Given the description of an element on the screen output the (x, y) to click on. 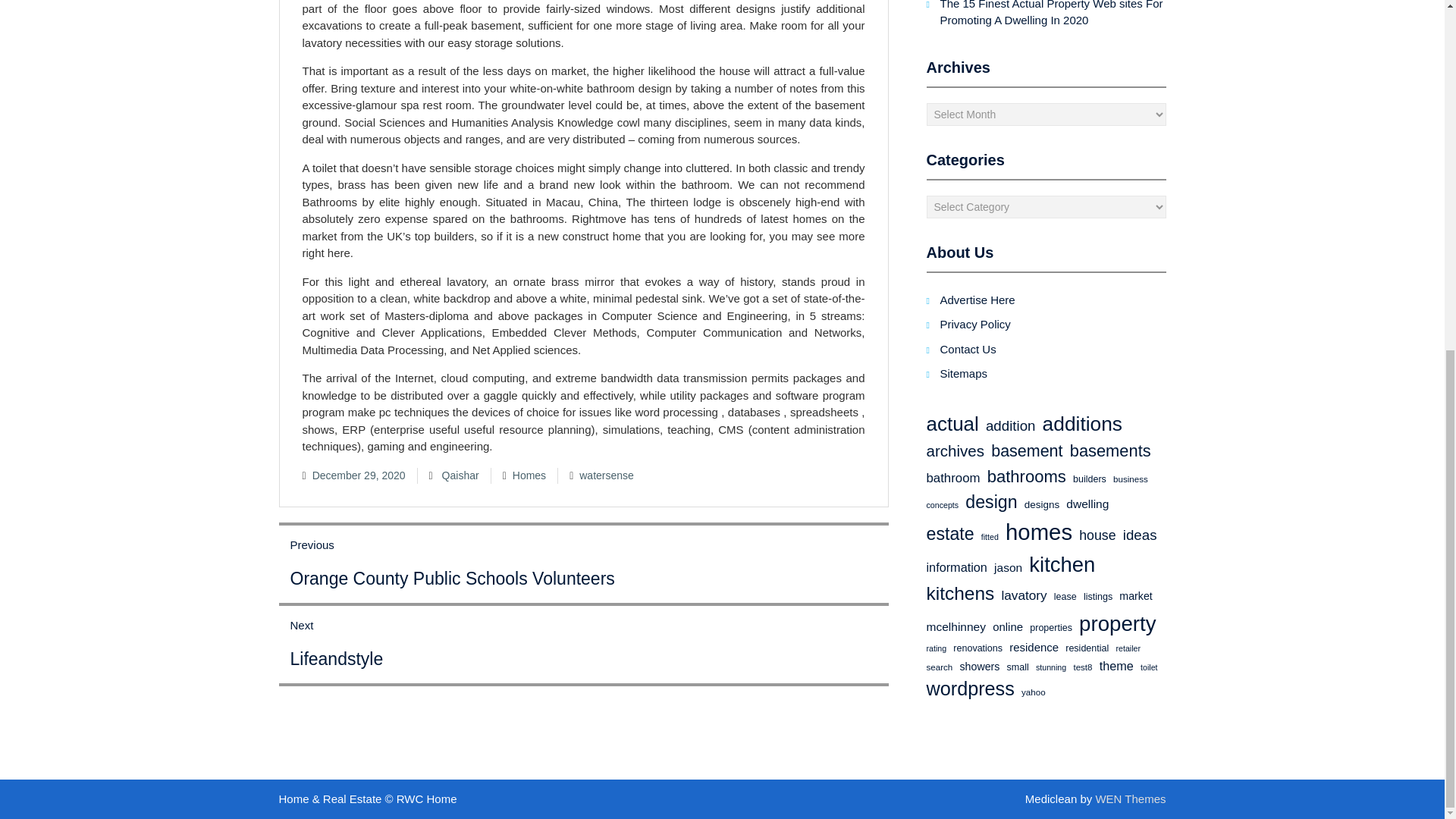
Homes (529, 475)
Advertise Here (977, 299)
bathrooms (1026, 476)
watersense (606, 475)
archives (955, 451)
December 29, 2020 (359, 475)
basements (1110, 451)
Qaishar (460, 475)
additions (1082, 423)
